Given the description of an element on the screen output the (x, y) to click on. 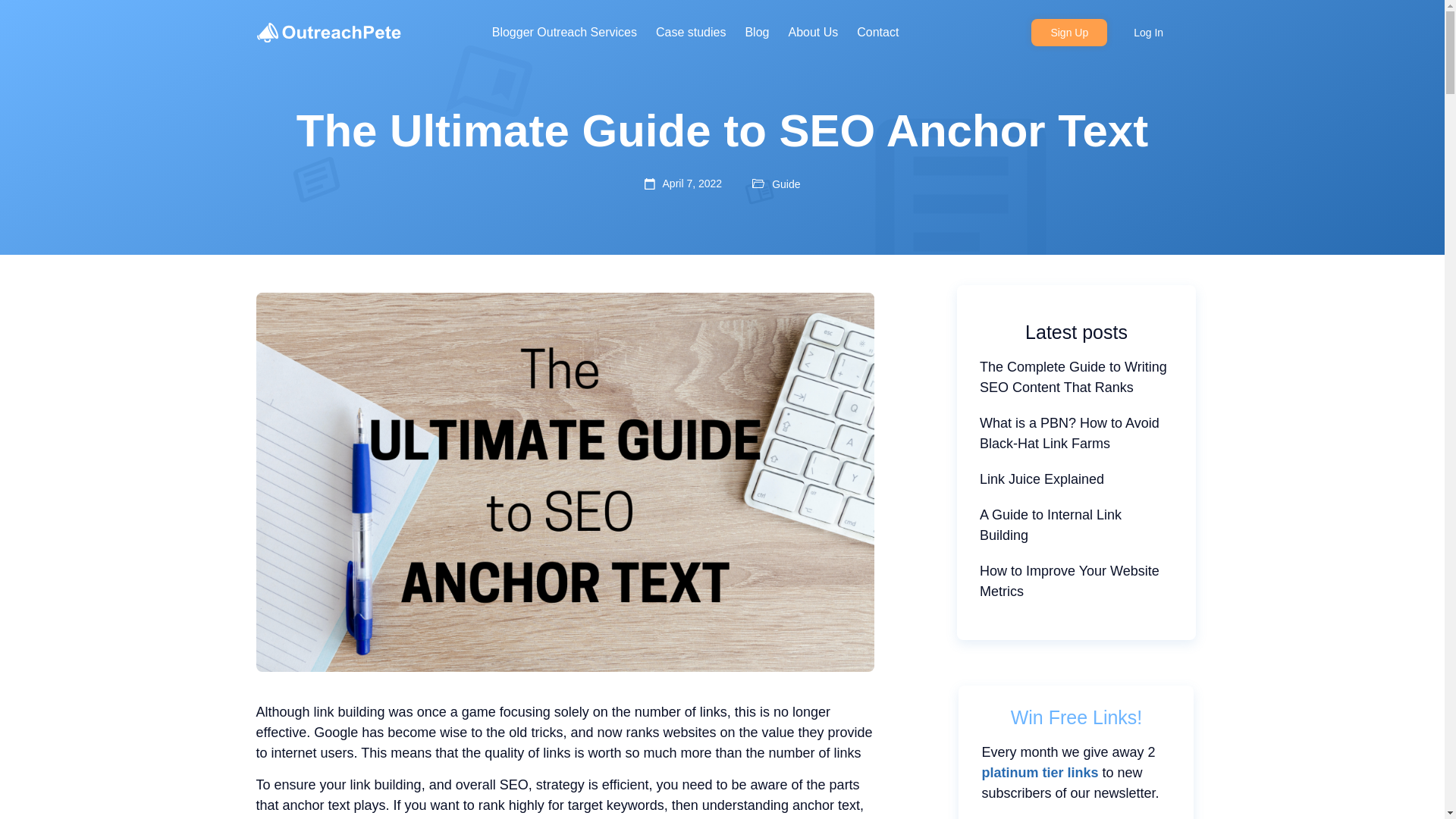
Log In (1148, 31)
Guide (785, 183)
Blog (756, 32)
About Us (812, 32)
Blogger Outreach Services (564, 32)
Sign Up (1068, 31)
Contact (877, 32)
Case studies (691, 32)
